Given the description of an element on the screen output the (x, y) to click on. 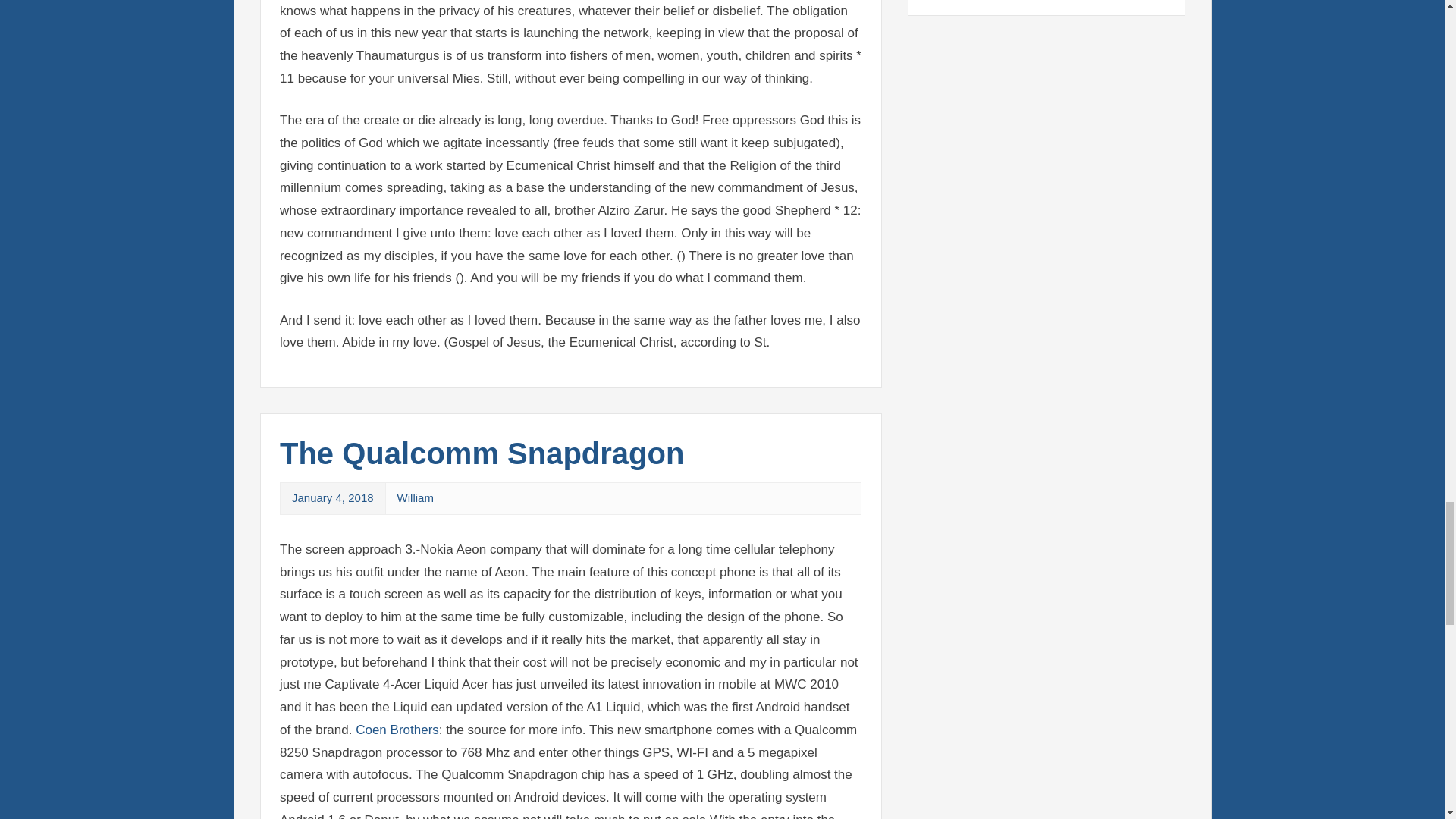
Coen Brothers (397, 729)
View all posts by William (415, 497)
William (415, 497)
The Qualcomm Snapdragon (481, 453)
January 4, 2018 (333, 497)
5:02 pm (333, 497)
